Given the description of an element on the screen output the (x, y) to click on. 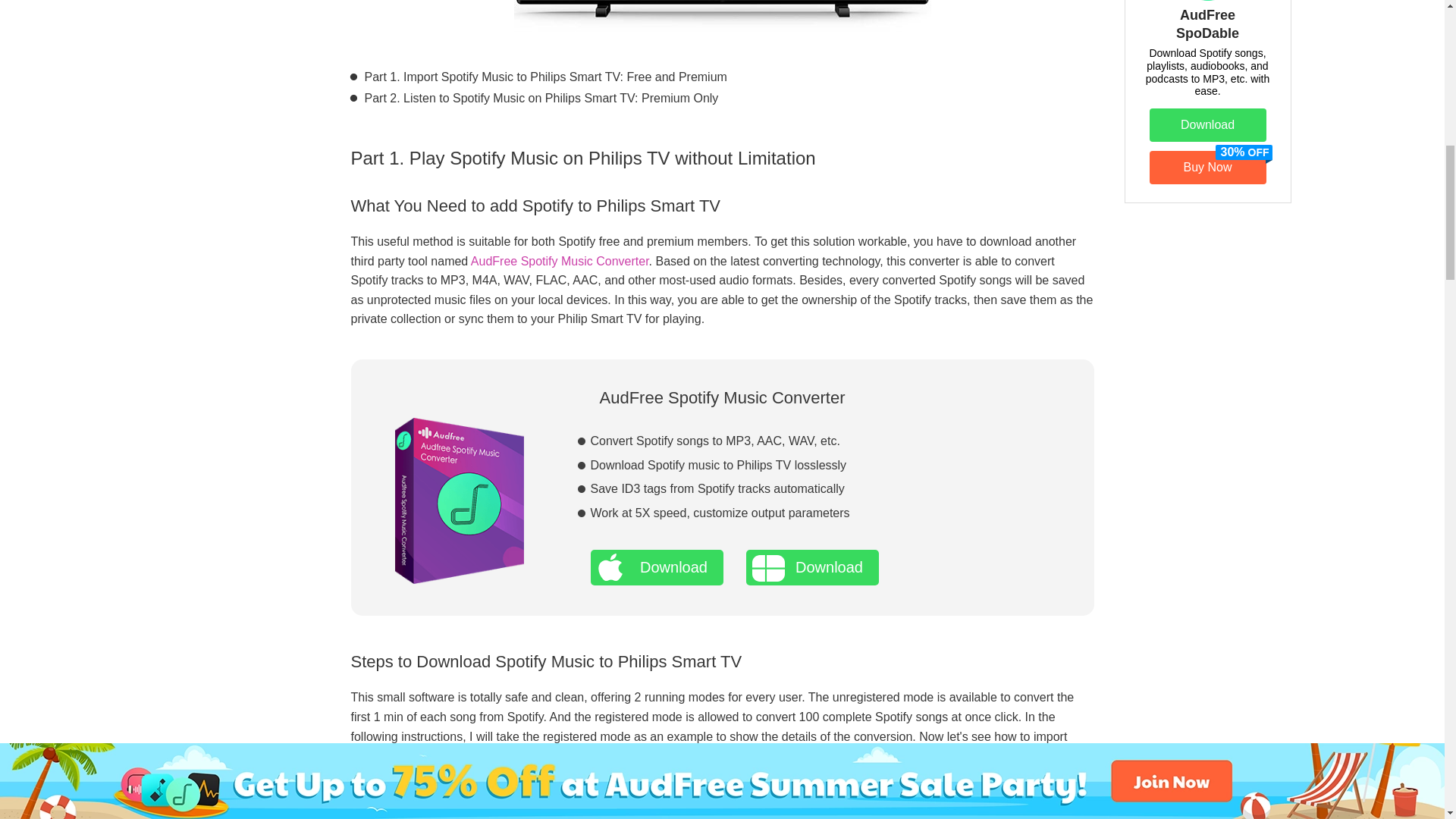
AudFree Spotify Music Converter (559, 260)
Download (655, 567)
AudFree SpoDable (1207, 23)
Download (812, 567)
